Given the description of an element on the screen output the (x, y) to click on. 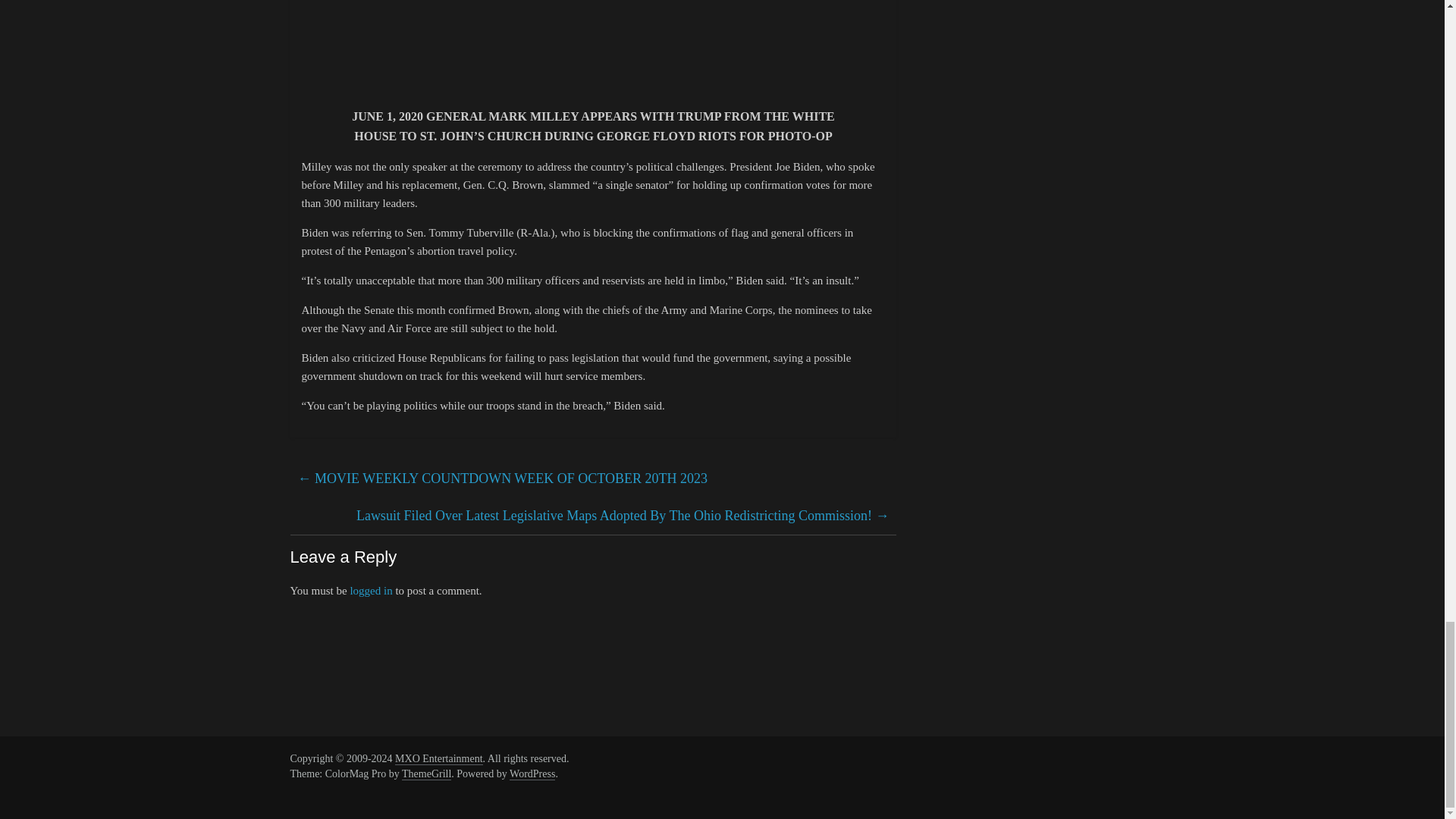
MXO Entertainment (437, 758)
ThemeGrill (426, 774)
WordPress (531, 774)
